Given the description of an element on the screen output the (x, y) to click on. 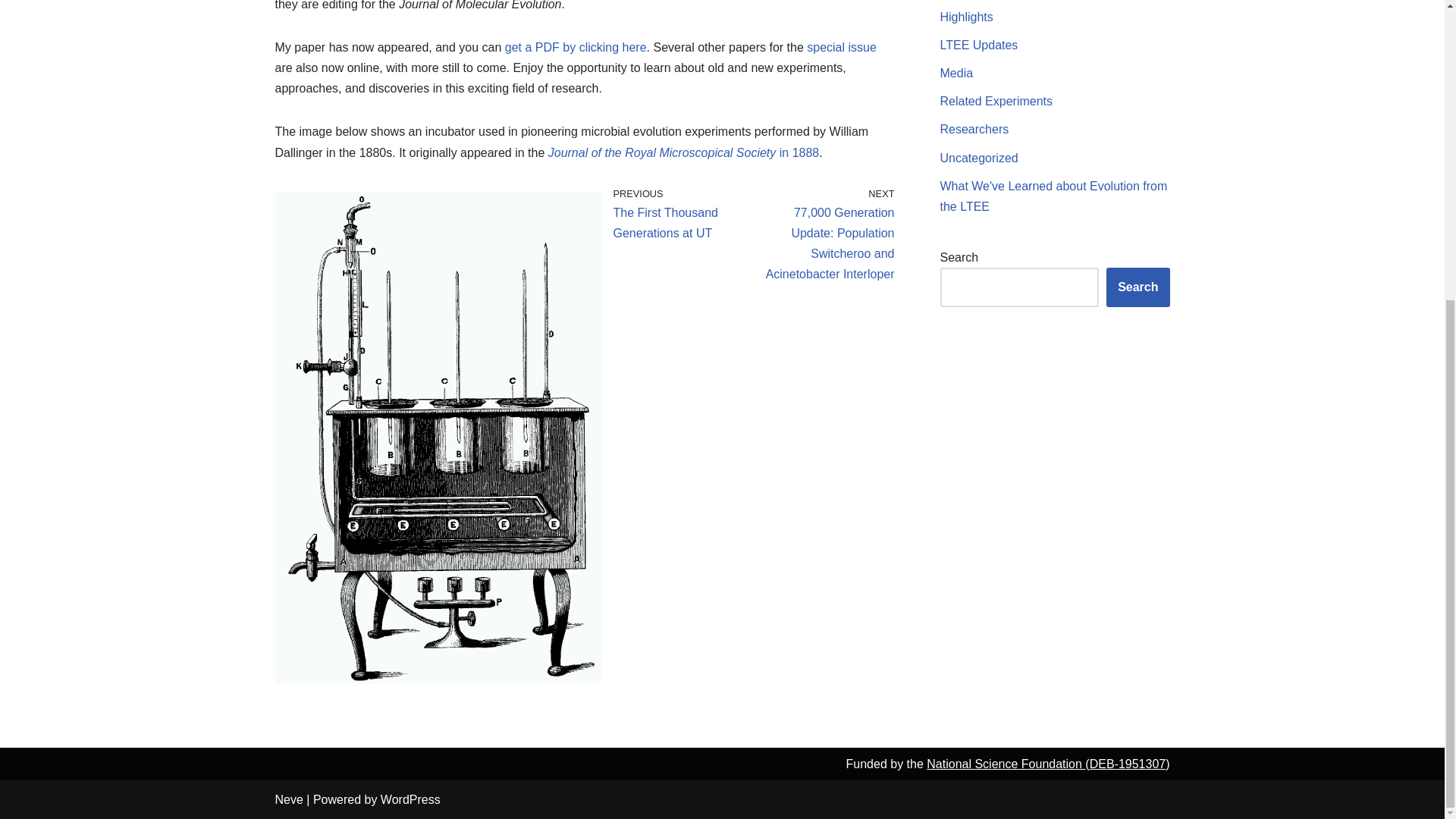
Journal of the Royal Microscopical Society in 1888 (683, 152)
get a PDF by clicking here (575, 47)
special issue (841, 47)
Highlights (966, 16)
